Given the description of an element on the screen output the (x, y) to click on. 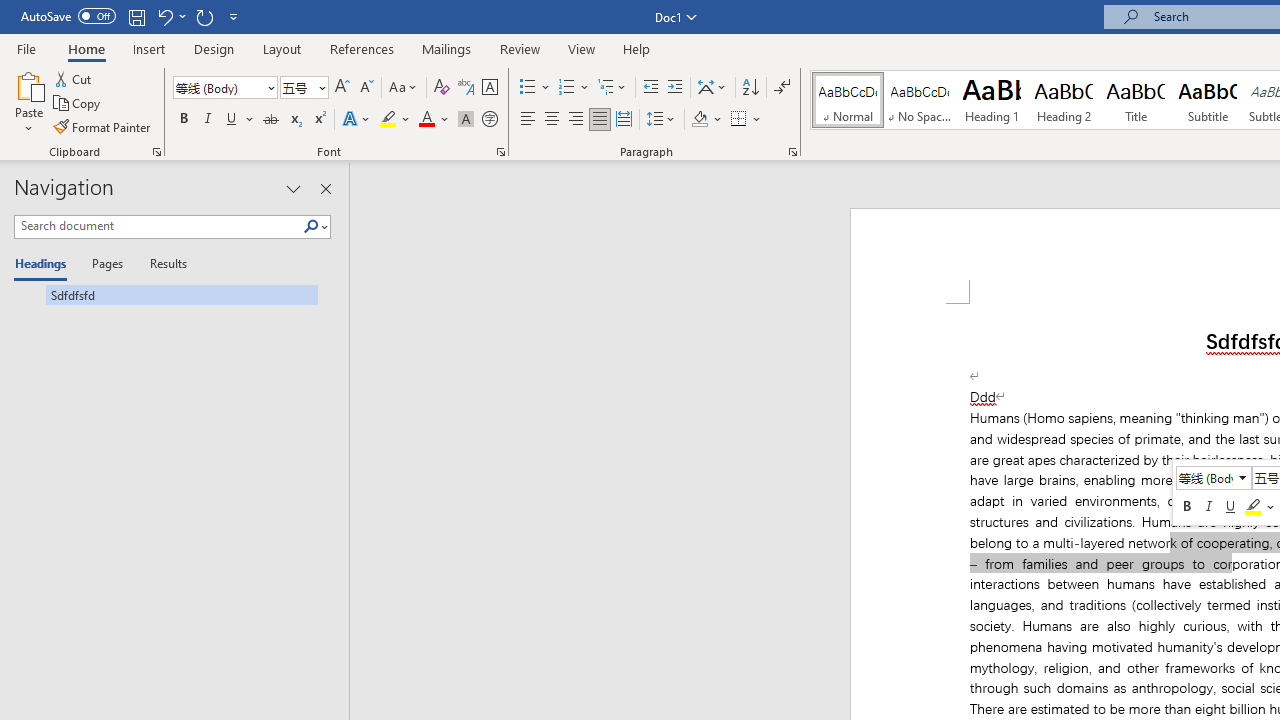
Undo  (164, 15)
